Given the description of an element on the screen output the (x, y) to click on. 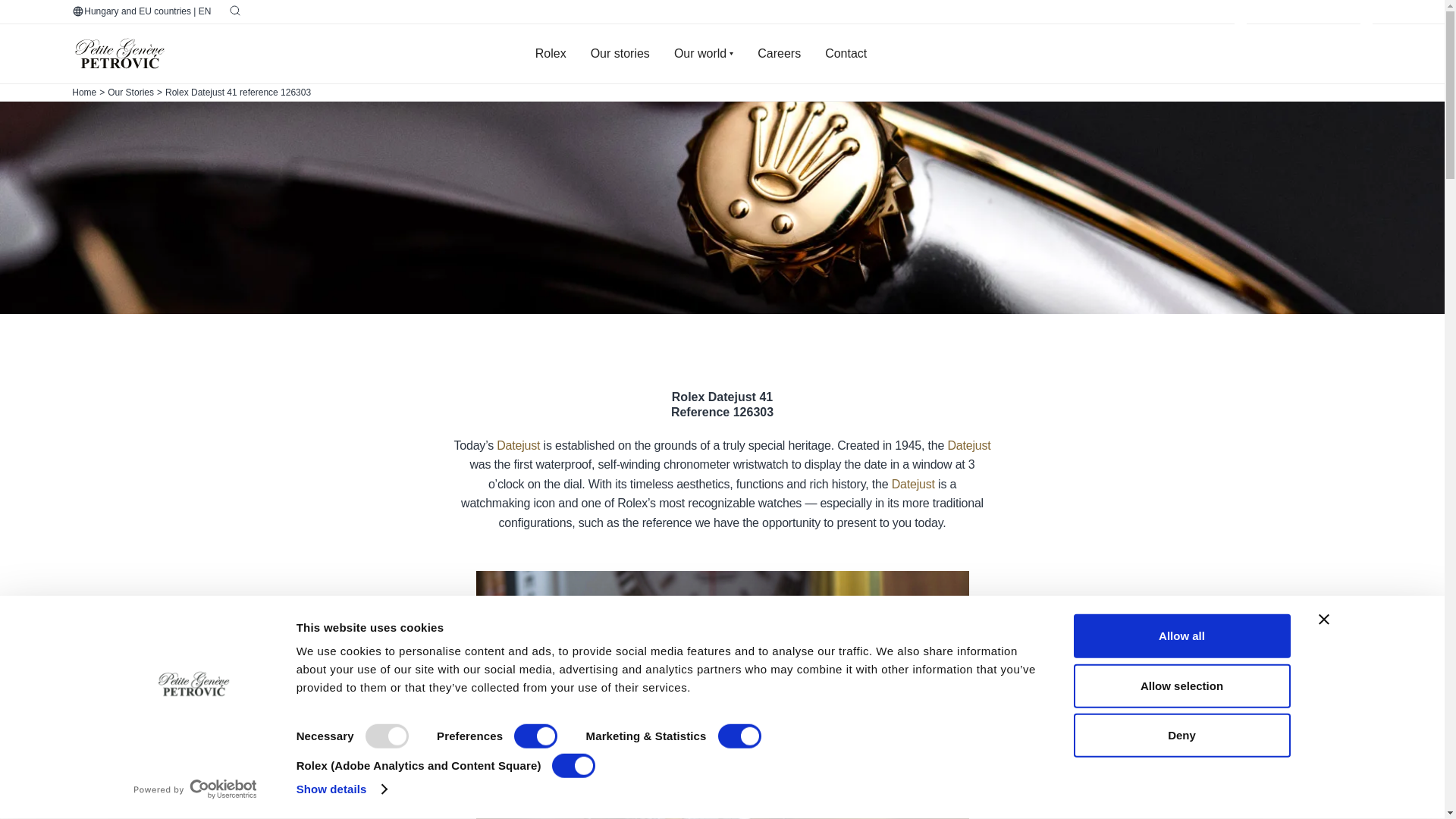
Show details (341, 789)
